Given the description of an element on the screen output the (x, y) to click on. 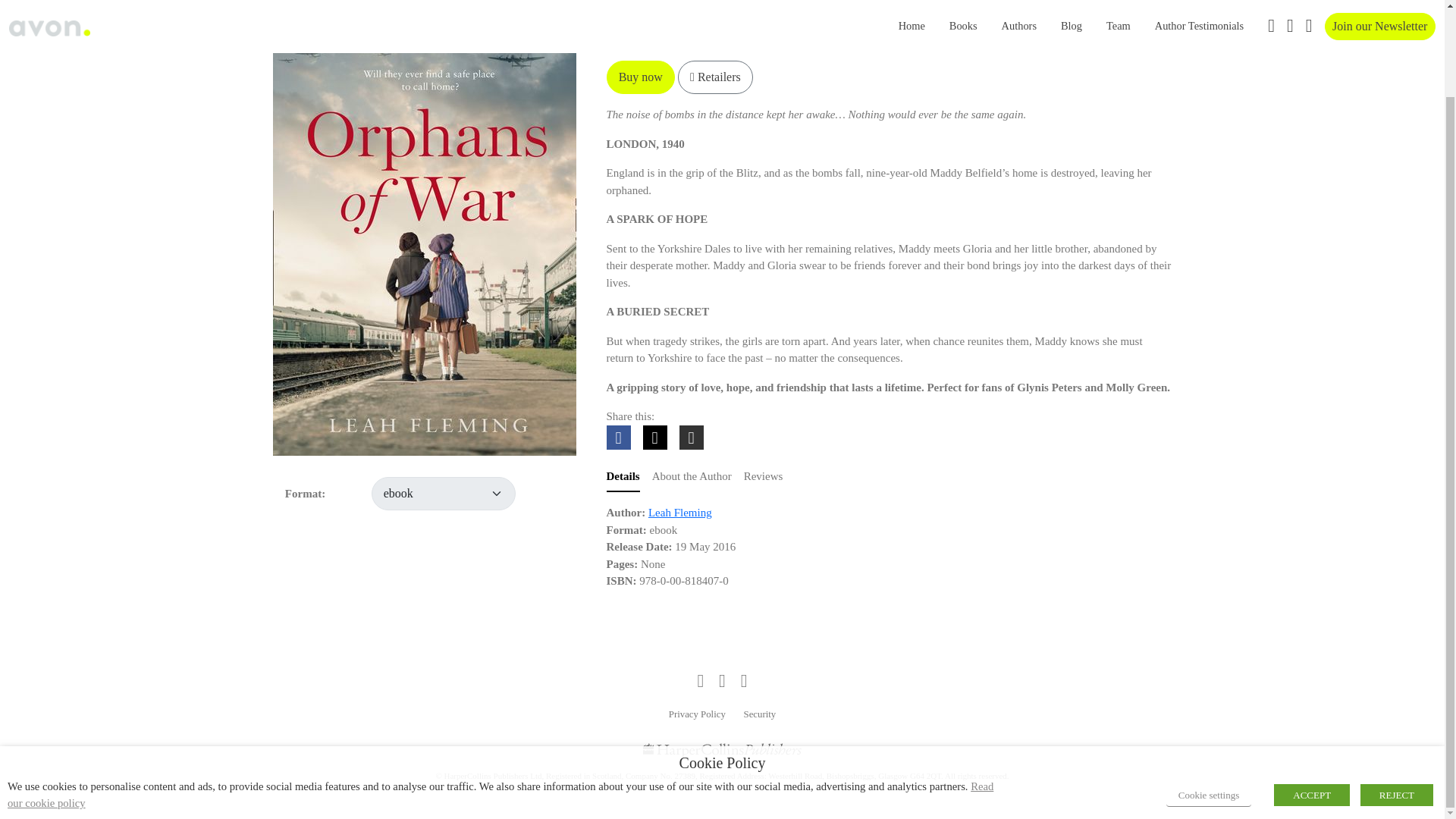
Leah Fleming (679, 512)
Details (623, 477)
About the Author (692, 477)
Retailers (715, 77)
Reviews (763, 477)
Buy now (641, 77)
